Given the description of an element on the screen output the (x, y) to click on. 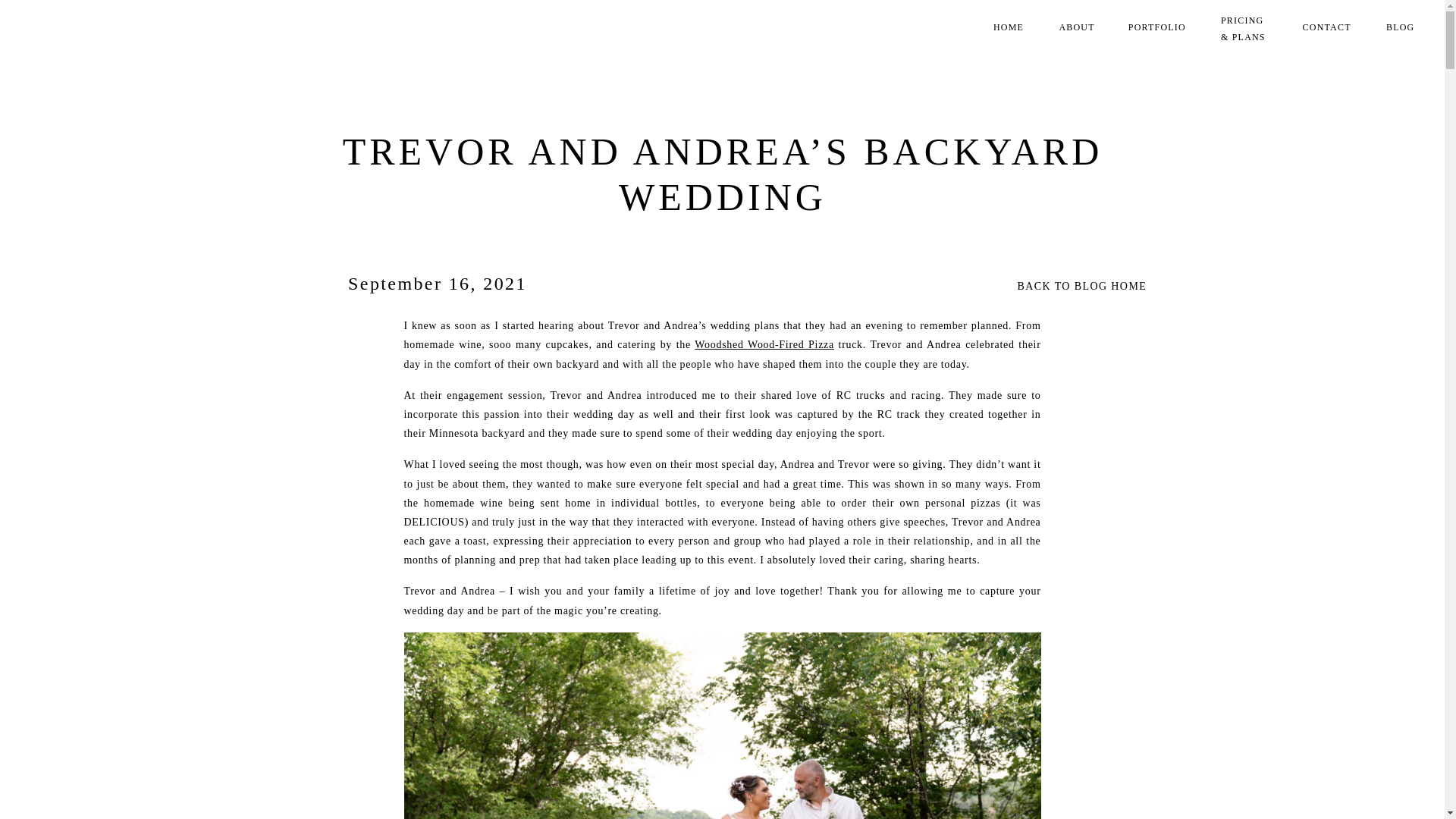
BACK TO BLOG HOME (1095, 283)
ABOUT (1077, 29)
CONTACT (1329, 29)
Woodshed Wood-Fired Pizza (764, 344)
PORTFOLIO (1159, 29)
BLOG (1401, 29)
HOME (1009, 29)
